Given the description of an element on the screen output the (x, y) to click on. 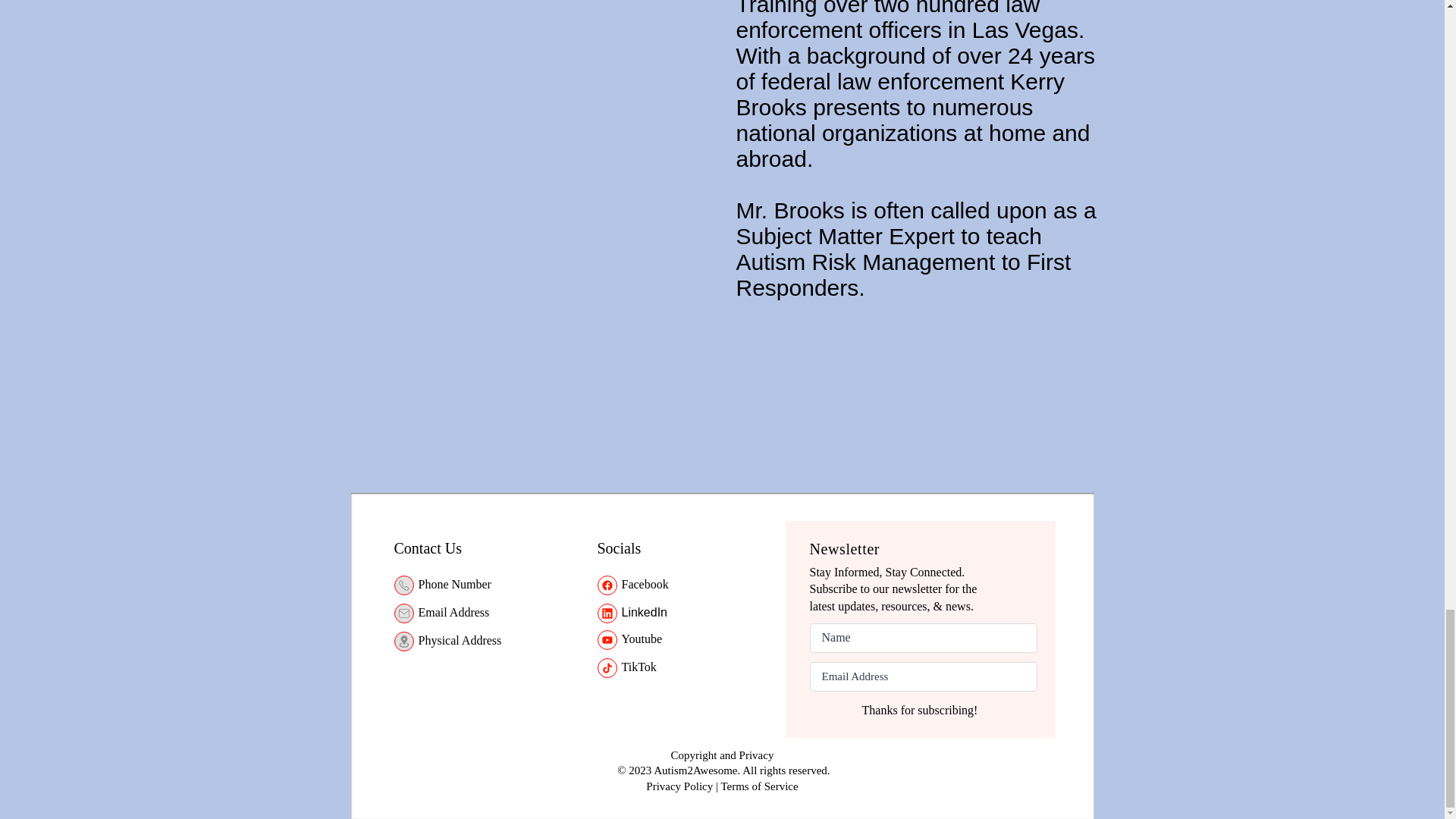
External YouTube (528, 140)
